Given the description of an element on the screen output the (x, y) to click on. 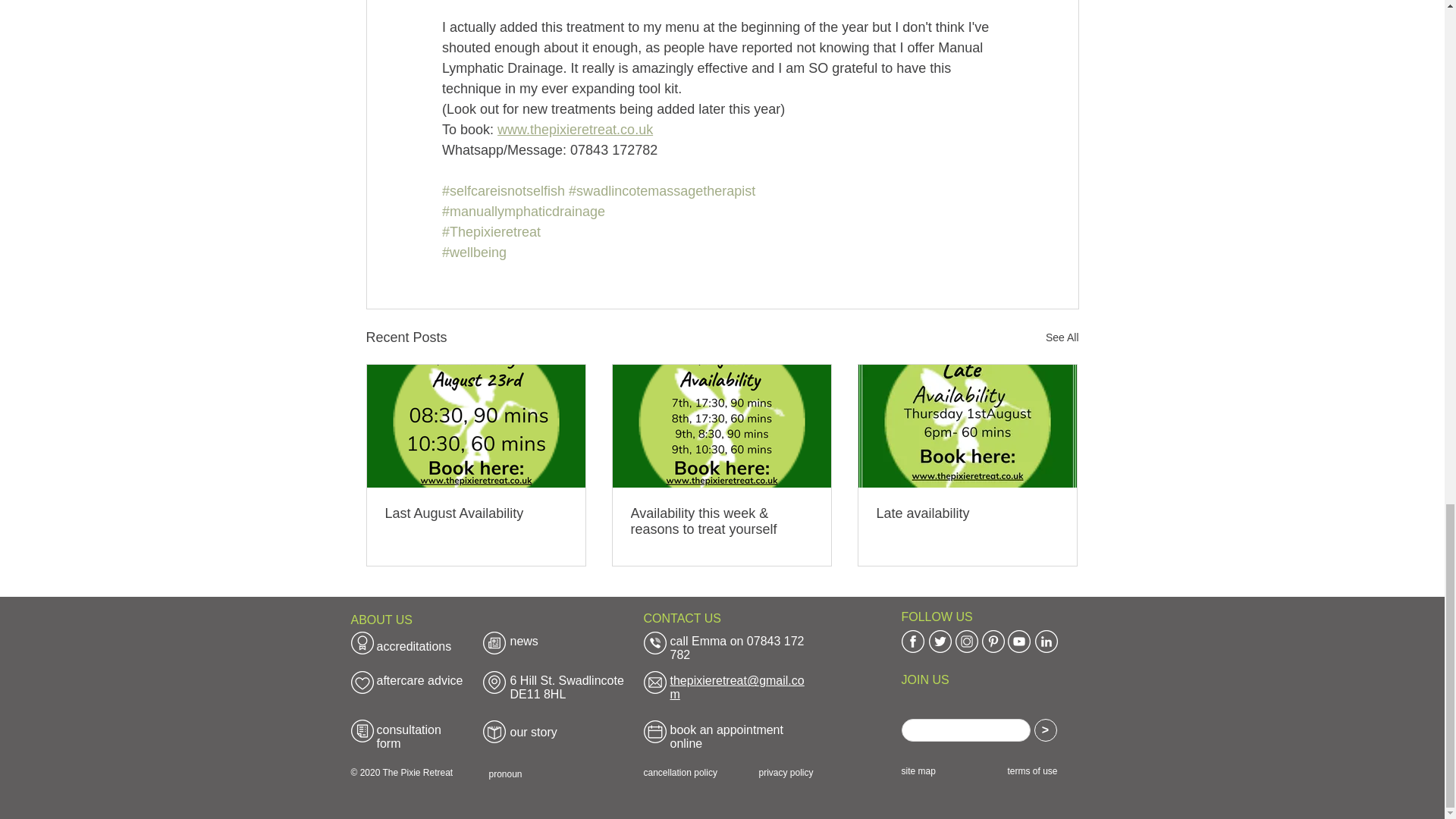
pronoun (504, 774)
Late availability (967, 513)
www.thepixieretreat.co.uk (574, 129)
See All (1061, 337)
news (523, 640)
call Emma on 07843 172 782 (737, 647)
6 Hill St. Swadlincote DE11 8HL (566, 687)
accreditations (413, 645)
our story (532, 731)
Last August Availability (476, 513)
